Given the description of an element on the screen output the (x, y) to click on. 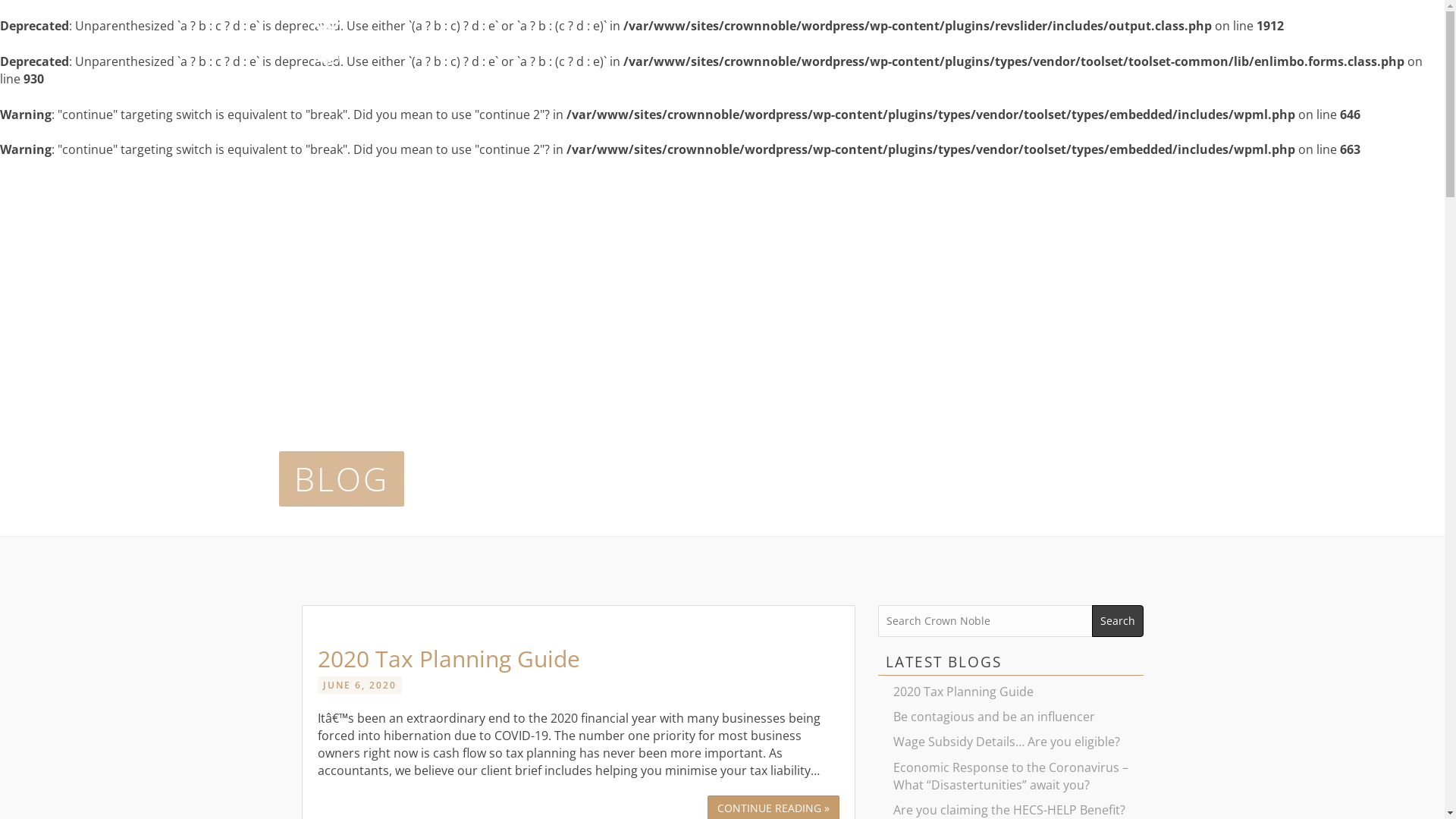
RESOURCES Element type: text (1025, 50)
2020 Tax Planning Guide Element type: text (1010, 691)
SERVICES Element type: text (853, 50)
ABOUT Element type: text (781, 50)
Be contagious and be an influencer Element type: text (1010, 716)
HOME Element type: text (717, 50)
CONTACT Element type: text (1113, 50)
Search Element type: text (1117, 621)
CONNECT Element type: text (935, 50)
2020 Tax Planning Guide Element type: text (447, 658)
